Given the description of an element on the screen output the (x, y) to click on. 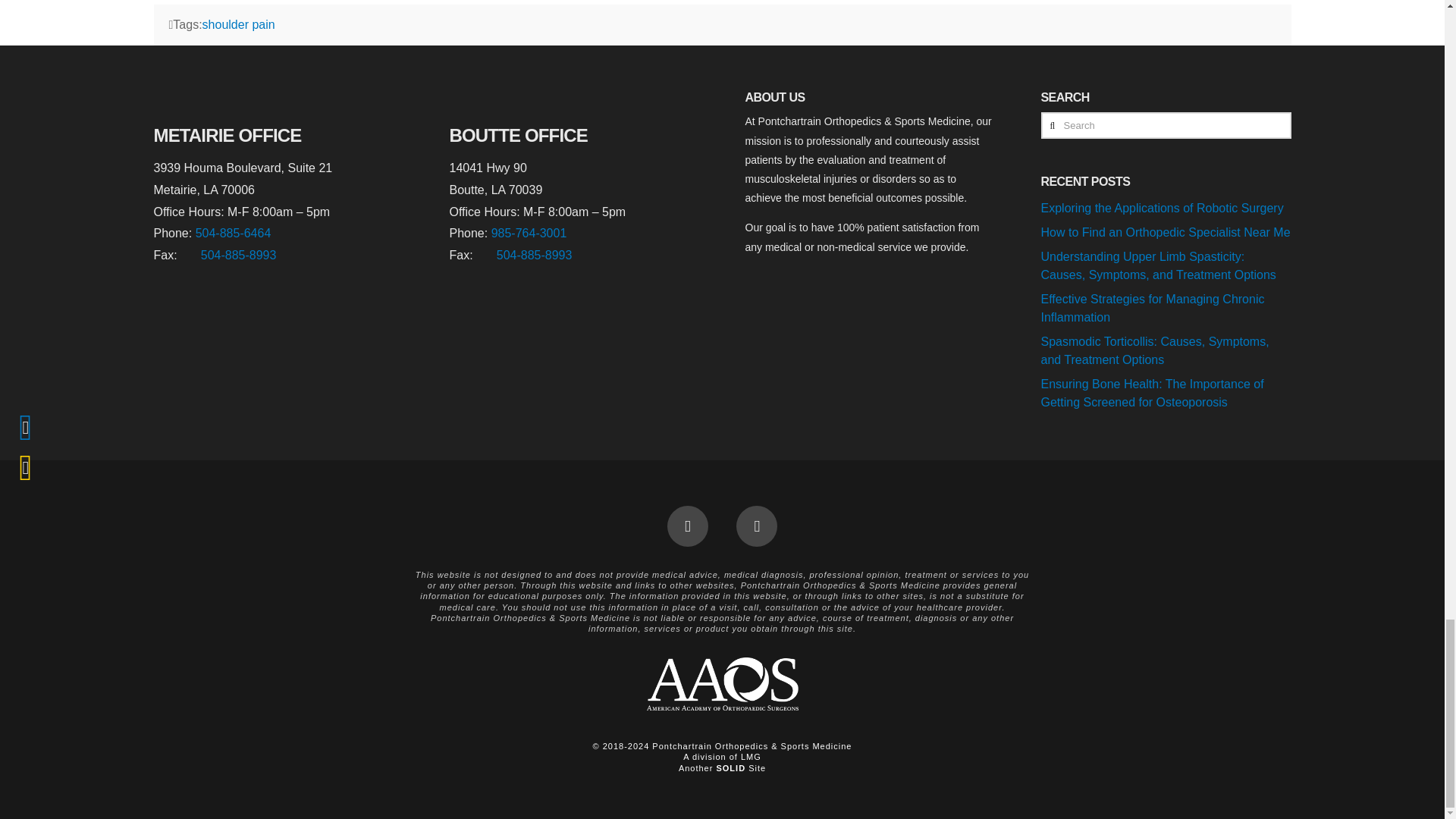
LinkedIn (756, 526)
Facebook (686, 526)
